Given the description of an element on the screen output the (x, y) to click on. 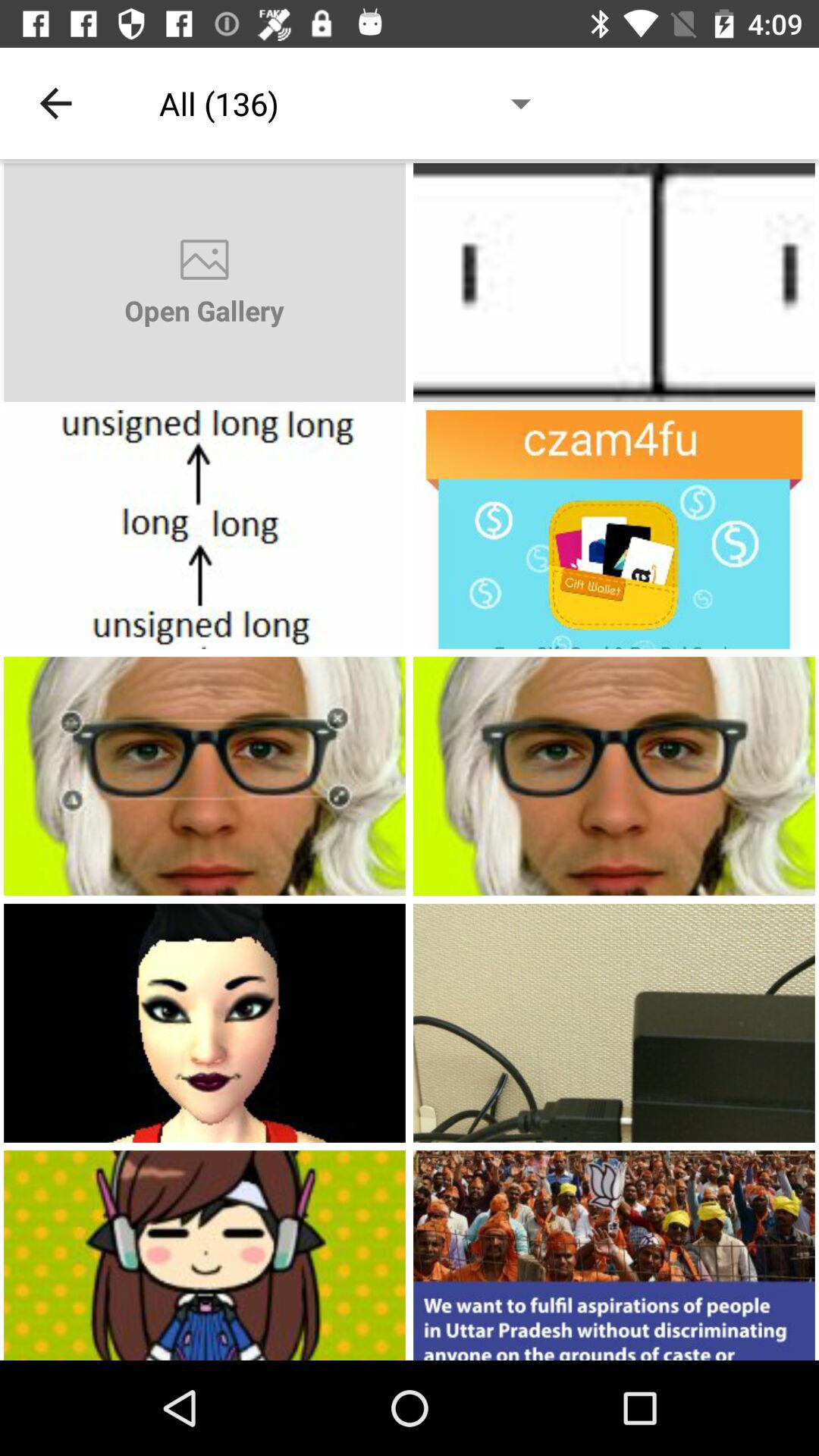
enlarge photo (614, 1255)
